Given the description of an element on the screen output the (x, y) to click on. 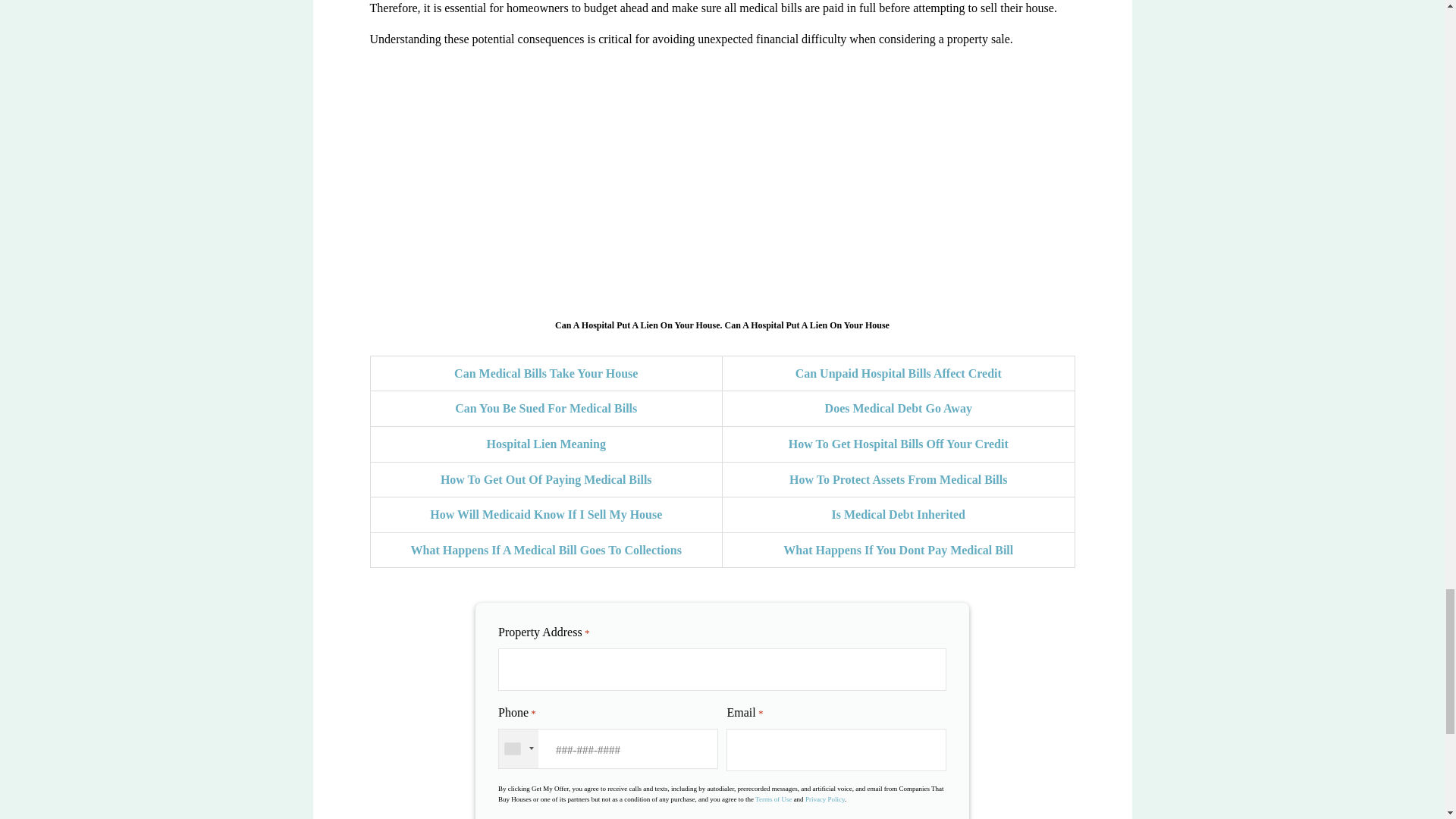
How To Get Out Of Paying Medical Bills (546, 479)
Hospital Lien Meaning (545, 443)
YouTube video player (721, 180)
Privacy Policy (824, 799)
Can Medical Bills Take Your House (545, 373)
Can Unpaid Hospital Bills Affect Credit (897, 373)
Can You Be Sued For Medical Bills (545, 408)
What Happens If You Dont Pay Medical Bill (898, 549)
How Will Medicaid Know If I Sell My House (545, 513)
Does Medical Debt Go Away (898, 408)
Terms of Use (773, 799)
How To Get Hospital Bills Off Your Credit (899, 443)
What Happens If A Medical Bill Goes To Collections (545, 549)
How To Protect Assets From Medical Bills (898, 479)
Is Medical Debt Inherited (898, 513)
